Given the description of an element on the screen output the (x, y) to click on. 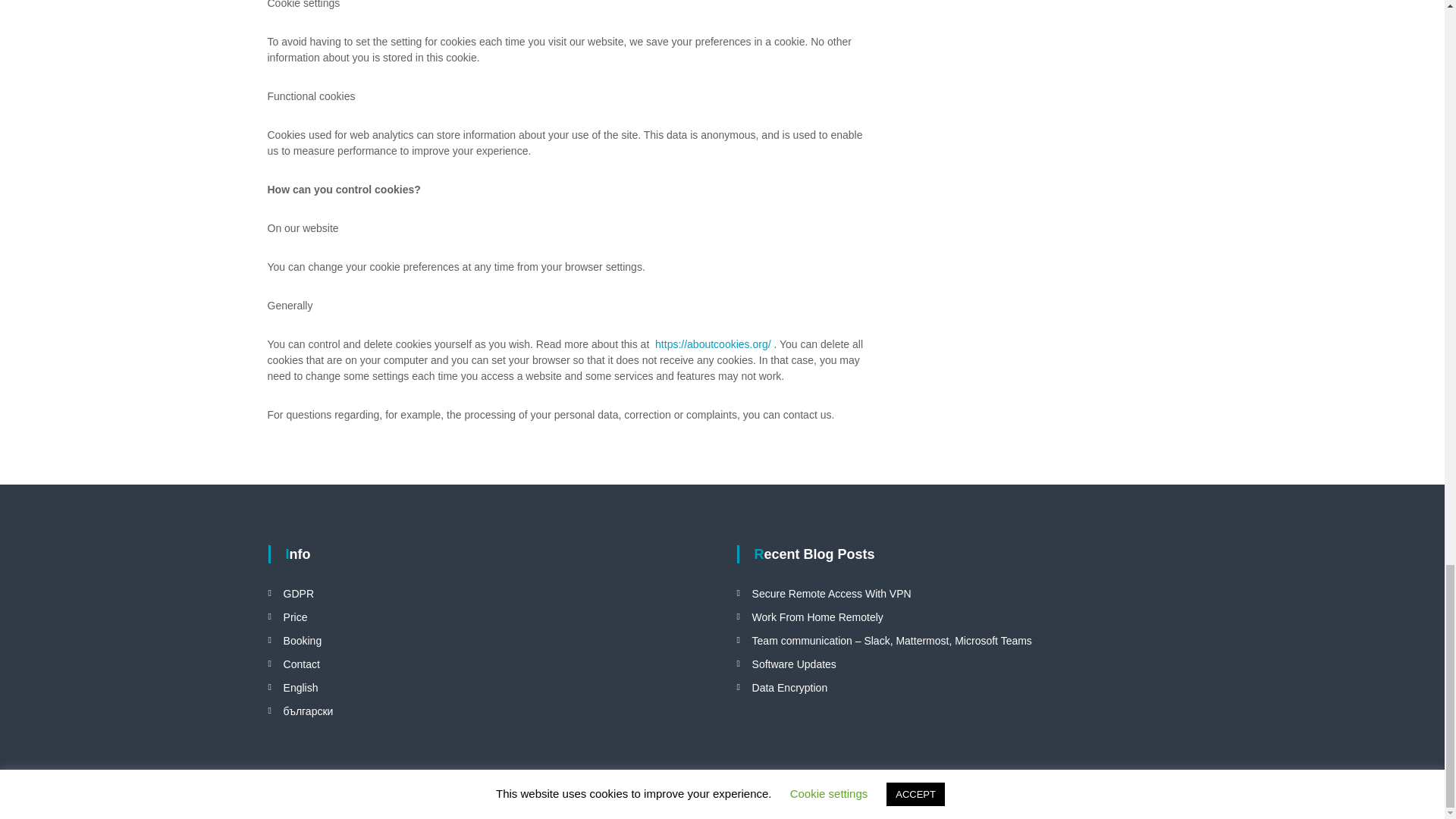
Software Updates (793, 663)
Price (295, 616)
Contact (301, 663)
Work From Home Remotely (817, 616)
Secure Remote Access With VPN (831, 593)
Booking (302, 640)
English (300, 687)
PcProFix (387, 796)
GDPR (298, 593)
